Given the description of an element on the screen output the (x, y) to click on. 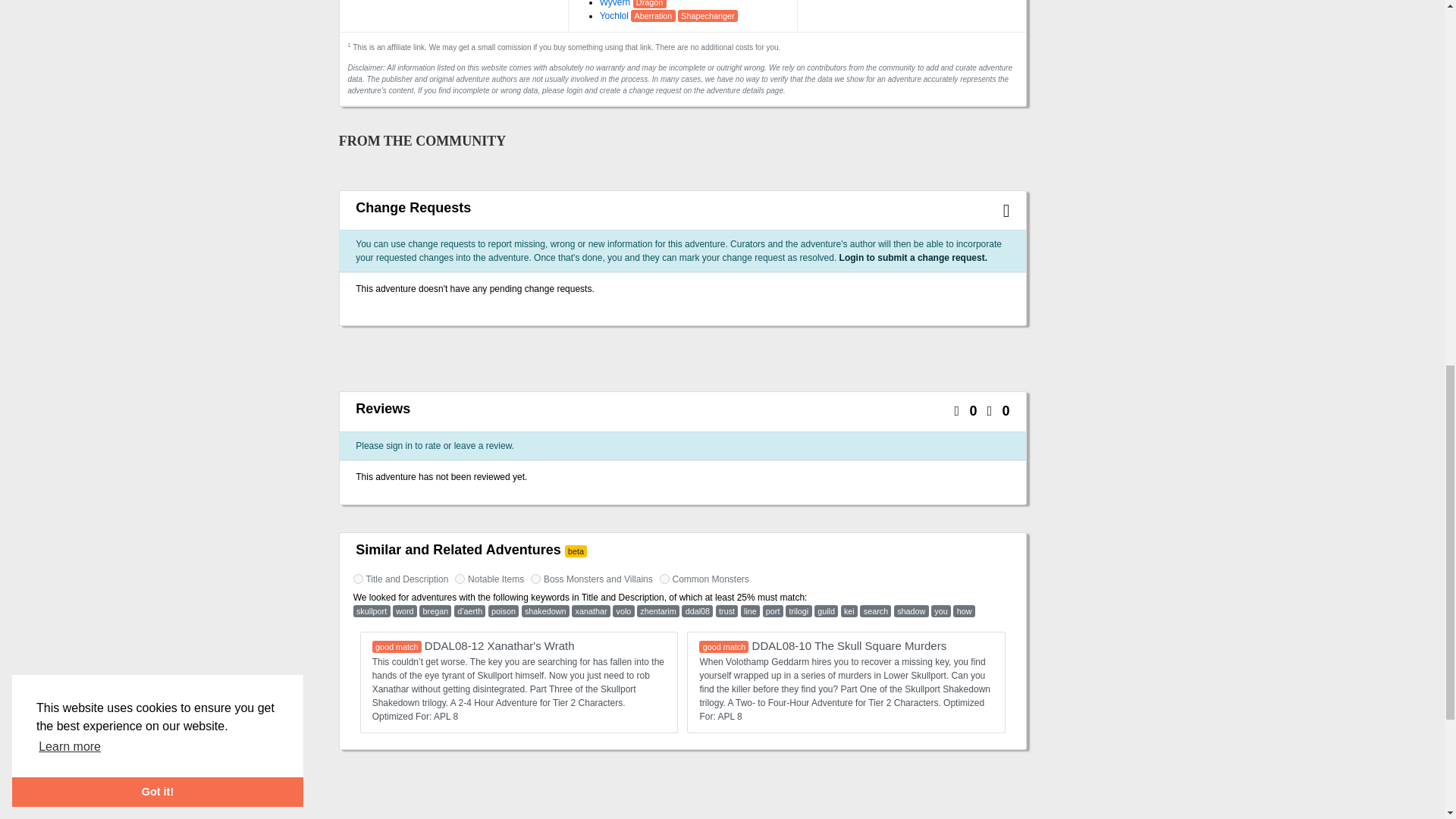
on (357, 578)
on (535, 578)
on (664, 578)
on (459, 578)
